Given the description of an element on the screen output the (x, y) to click on. 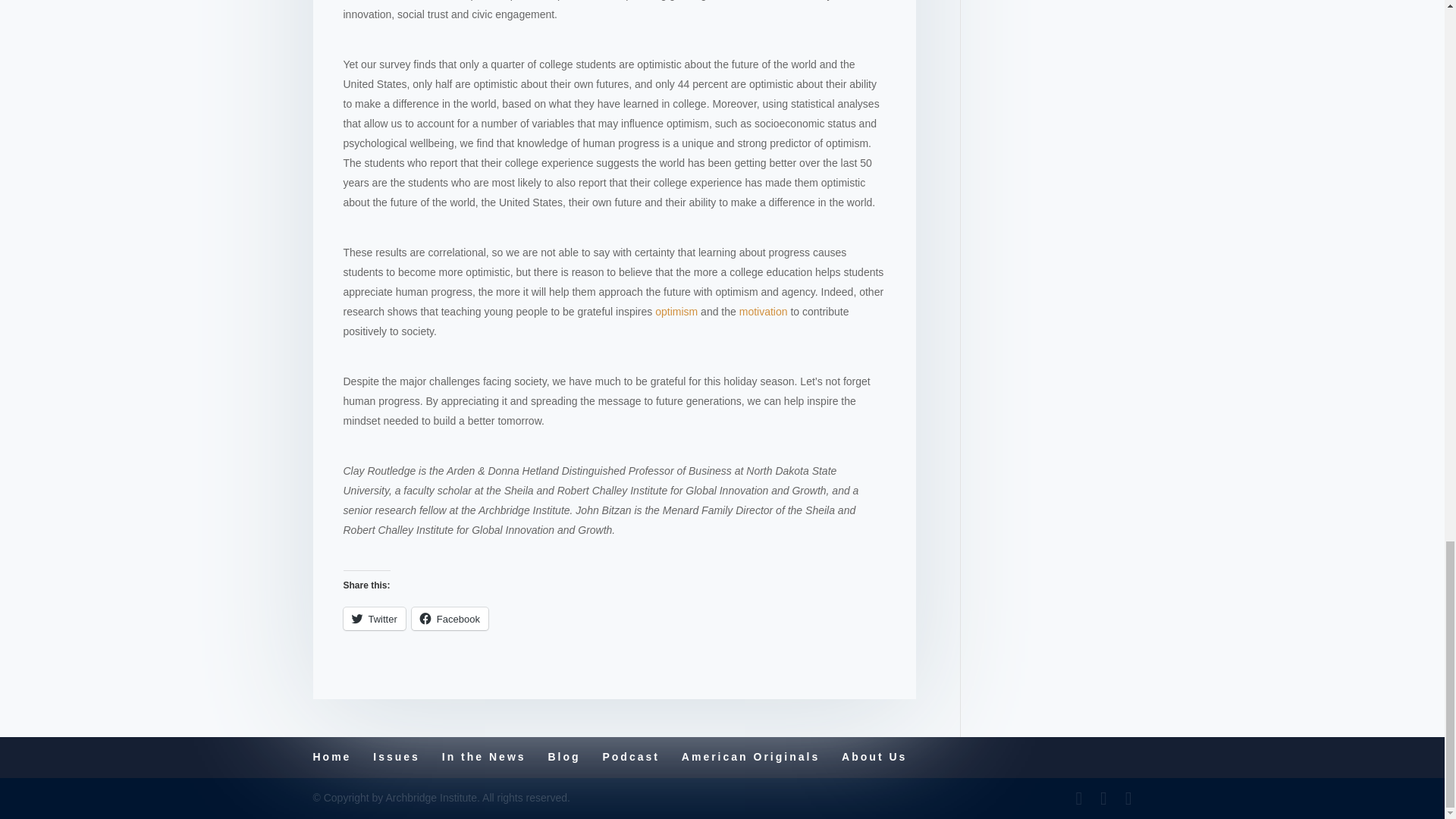
 research (374, 0)
Click to share on Facebook (449, 618)
Facebook (449, 618)
Issues (396, 756)
Click to share on Twitter (373, 618)
optimism (676, 311)
Home (331, 756)
 motivation (761, 311)
Twitter (373, 618)
